Given the description of an element on the screen output the (x, y) to click on. 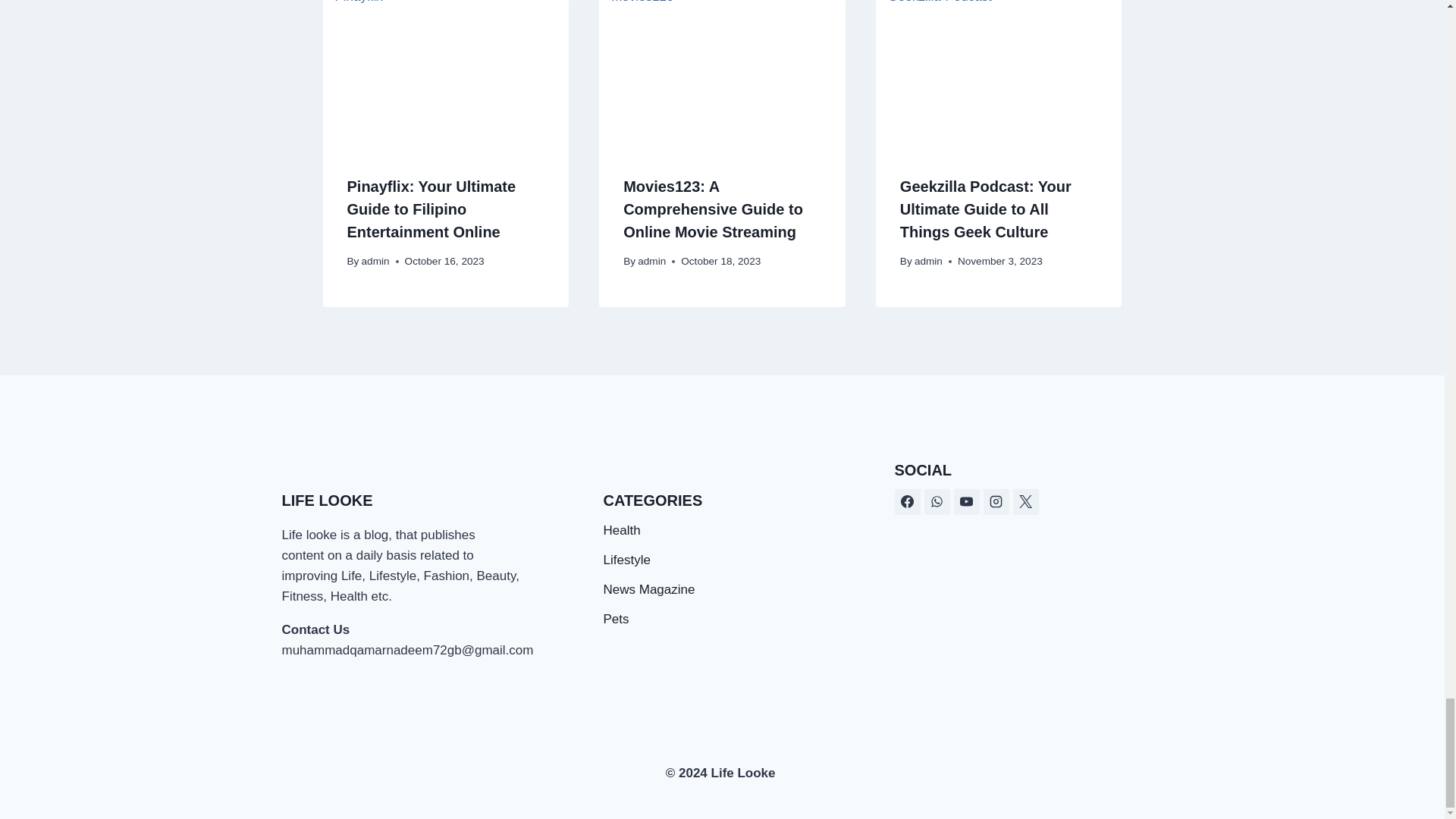
admin (375, 260)
admin (651, 260)
Movies123: A Comprehensive Guide to Online Movie Streaming (713, 209)
